Given the description of an element on the screen output the (x, y) to click on. 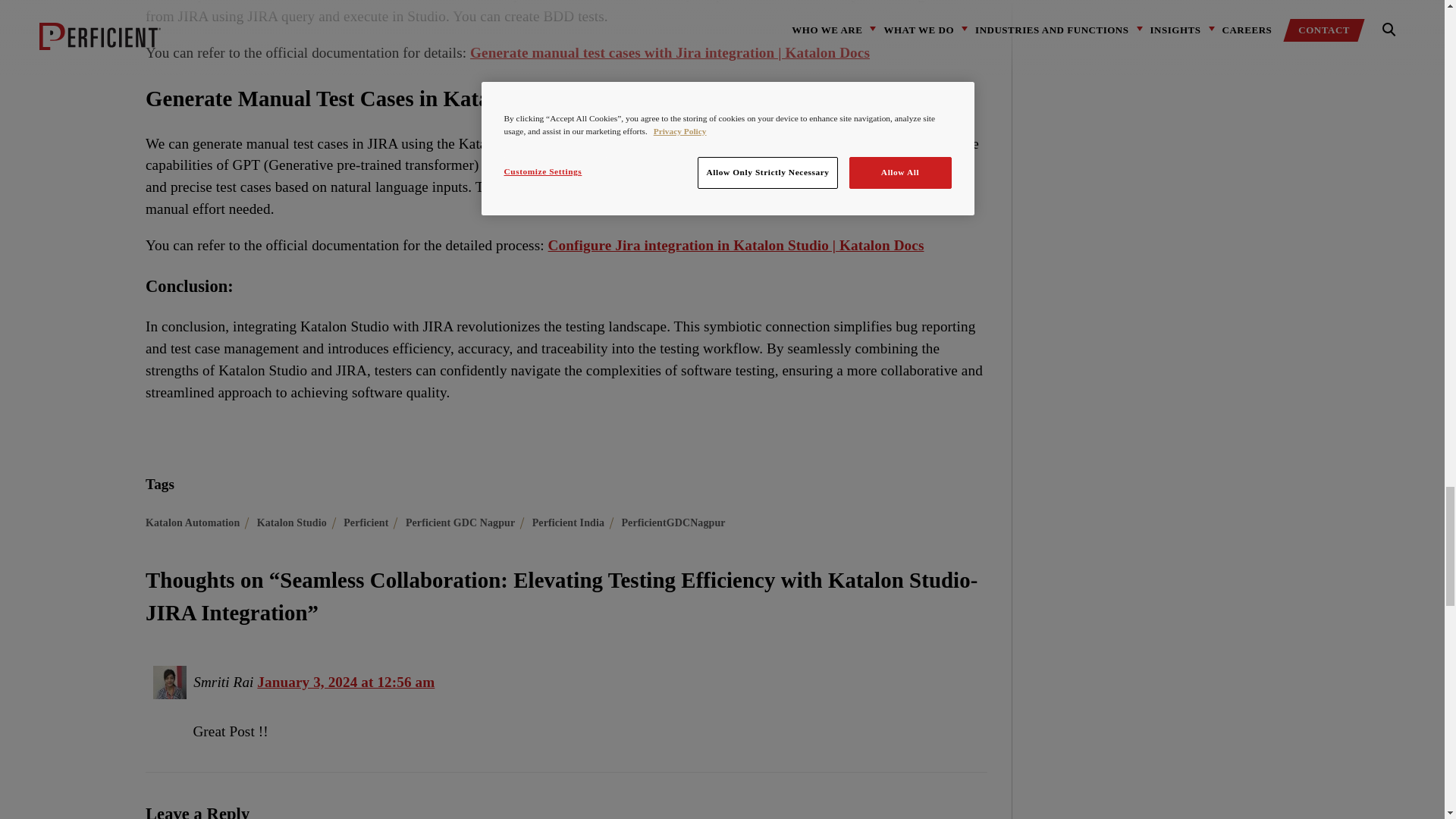
Perficient GDC Nagpur (460, 522)
Katalon Automation (192, 522)
January 3, 2024 at 12:56 am (345, 682)
Katalon Studio (291, 522)
Perficient India (568, 522)
Perficient (365, 522)
PerficientGDCNagpur (673, 522)
